Given the description of an element on the screen output the (x, y) to click on. 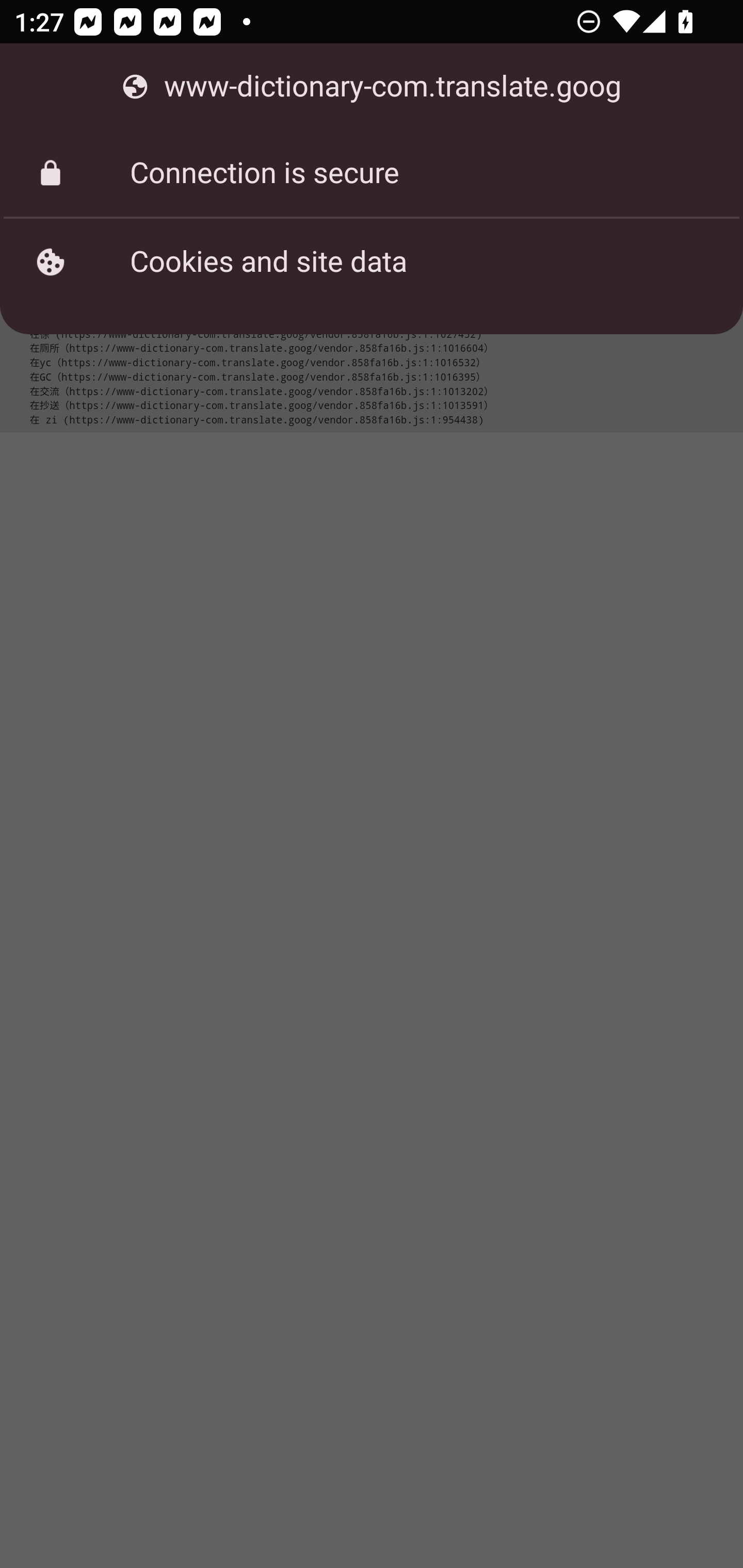
www-dictionary-com.translate.goog (371, 86)
Connection is secure (371, 173)
Cookies and site data (371, 261)
